Given the description of an element on the screen output the (x, y) to click on. 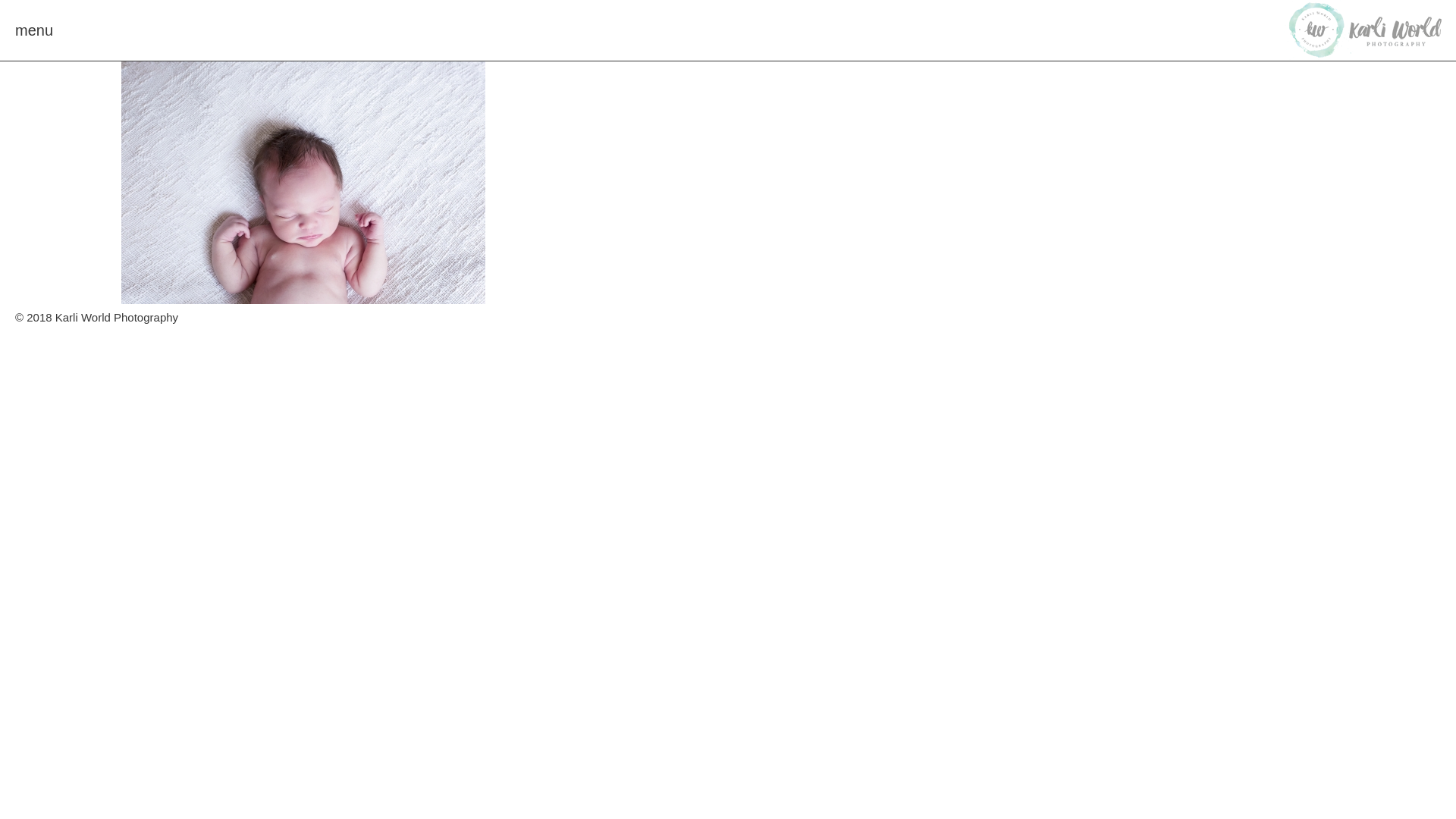
menu Element type: text (34, 29)
